Given the description of an element on the screen output the (x, y) to click on. 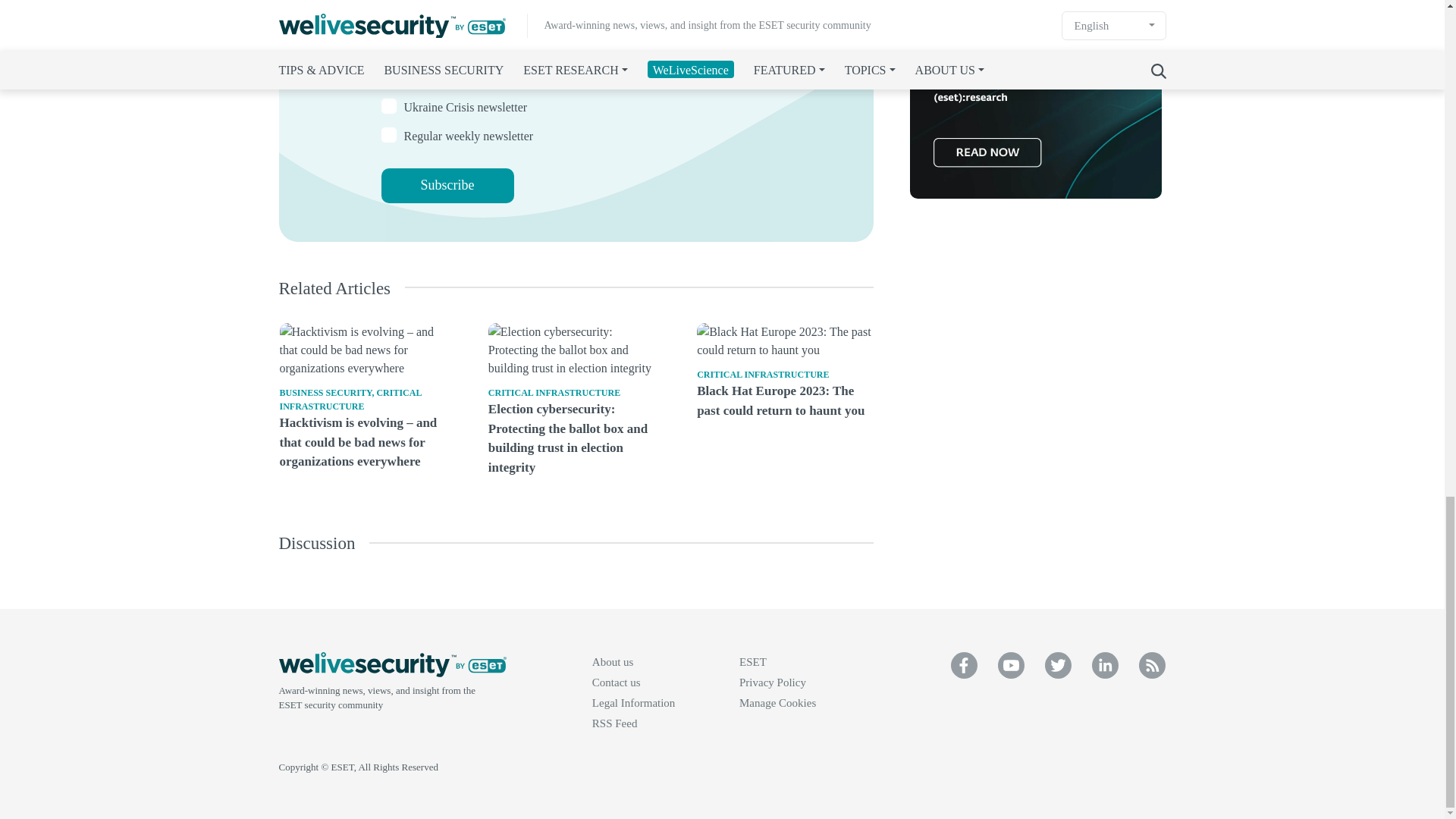
We Live Security Ukraine Newsletter (388, 105)
We Live Security (388, 134)
